Given the description of an element on the screen output the (x, y) to click on. 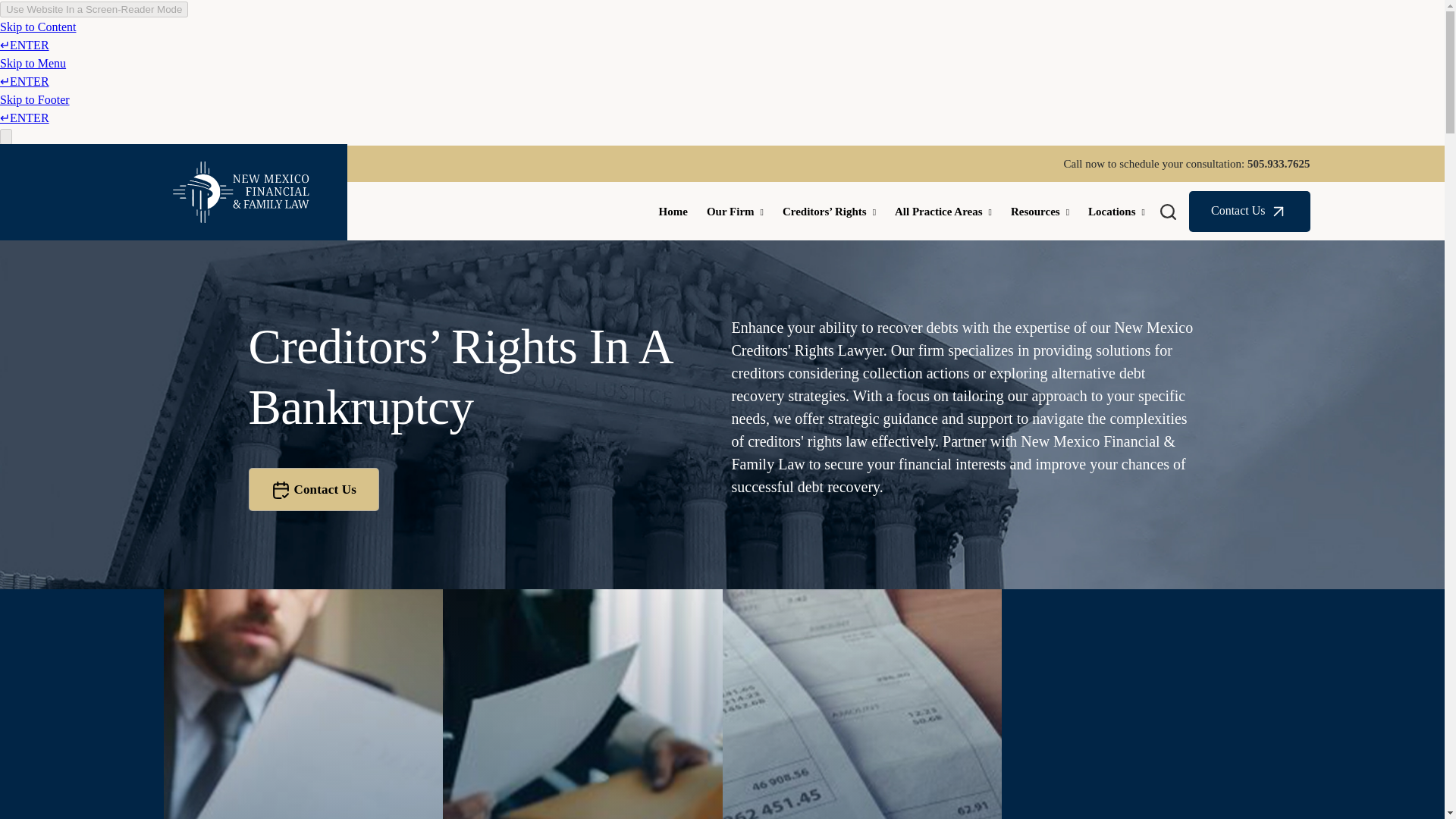
505.933.7625 (1278, 163)
All Practice Areas (943, 211)
Locations (1116, 211)
Our Firm (735, 211)
Contact Us (313, 489)
Resources (1040, 211)
Contact Us (1249, 210)
